Given the description of an element on the screen output the (x, y) to click on. 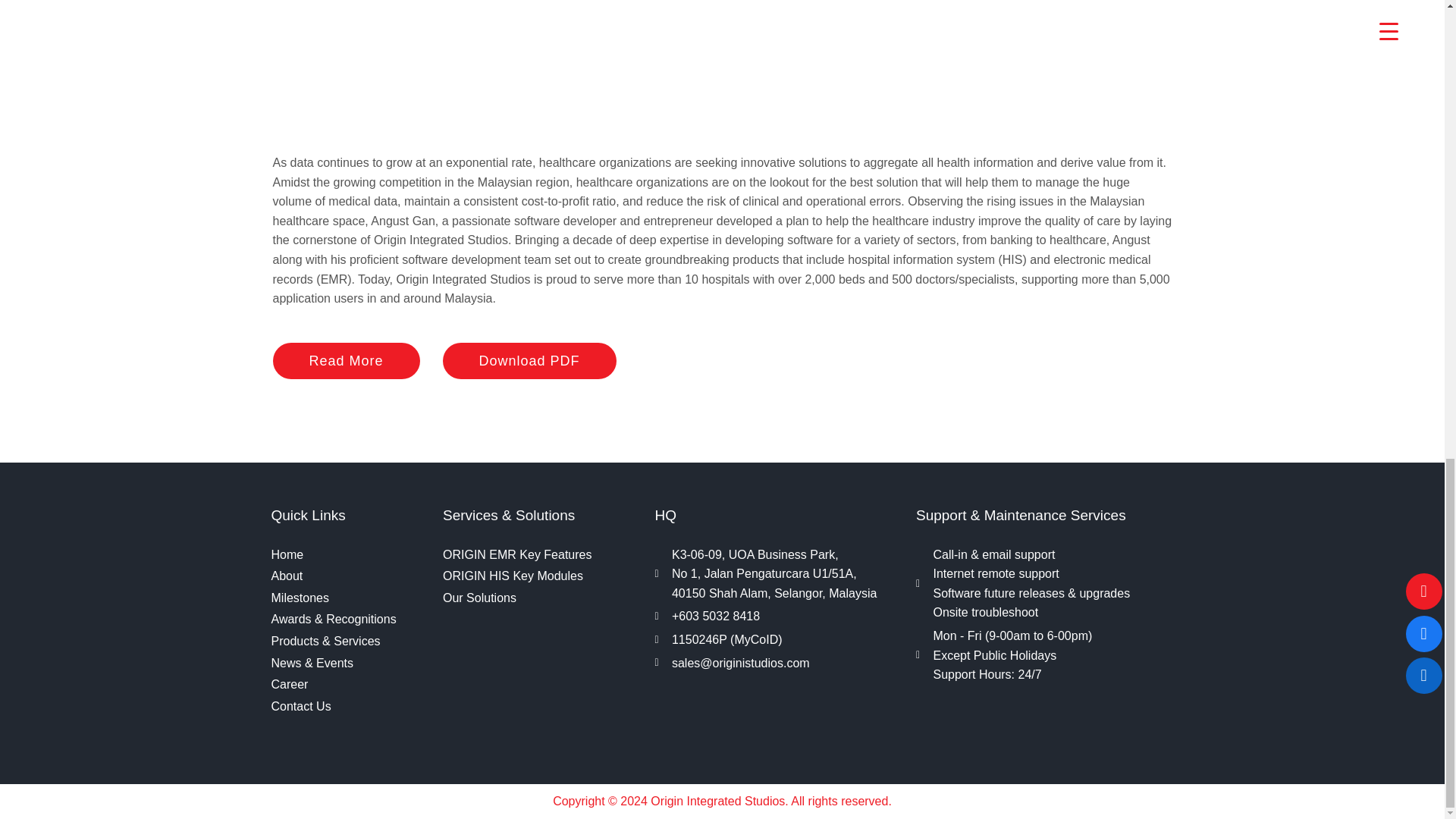
Download PDF (528, 361)
About (349, 576)
Milestones (349, 598)
Contact Us (349, 706)
Read More (346, 361)
Home (349, 555)
Career (349, 684)
